Given the description of an element on the screen output the (x, y) to click on. 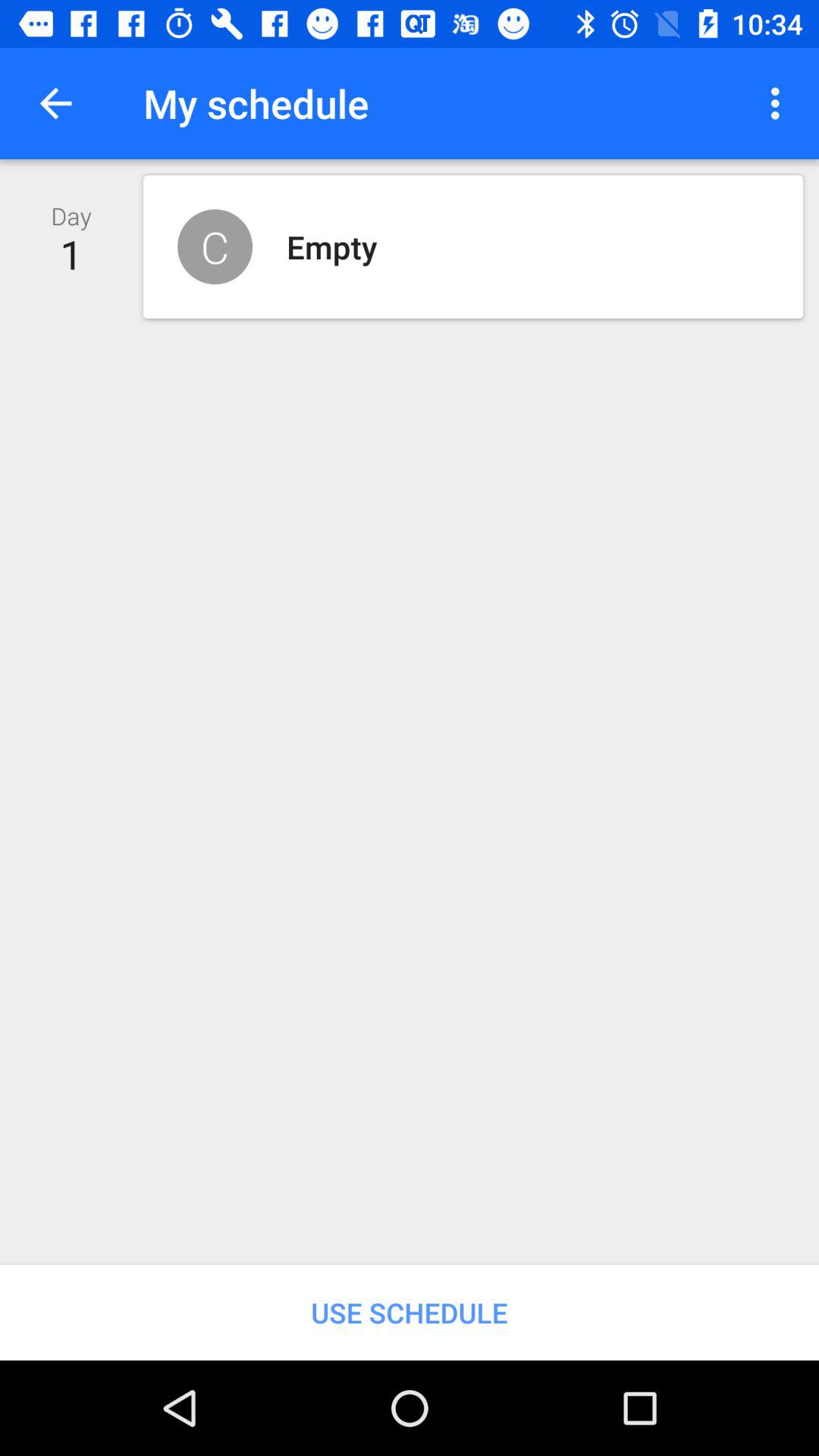
swipe until the use schedule (409, 1312)
